Given the description of an element on the screen output the (x, y) to click on. 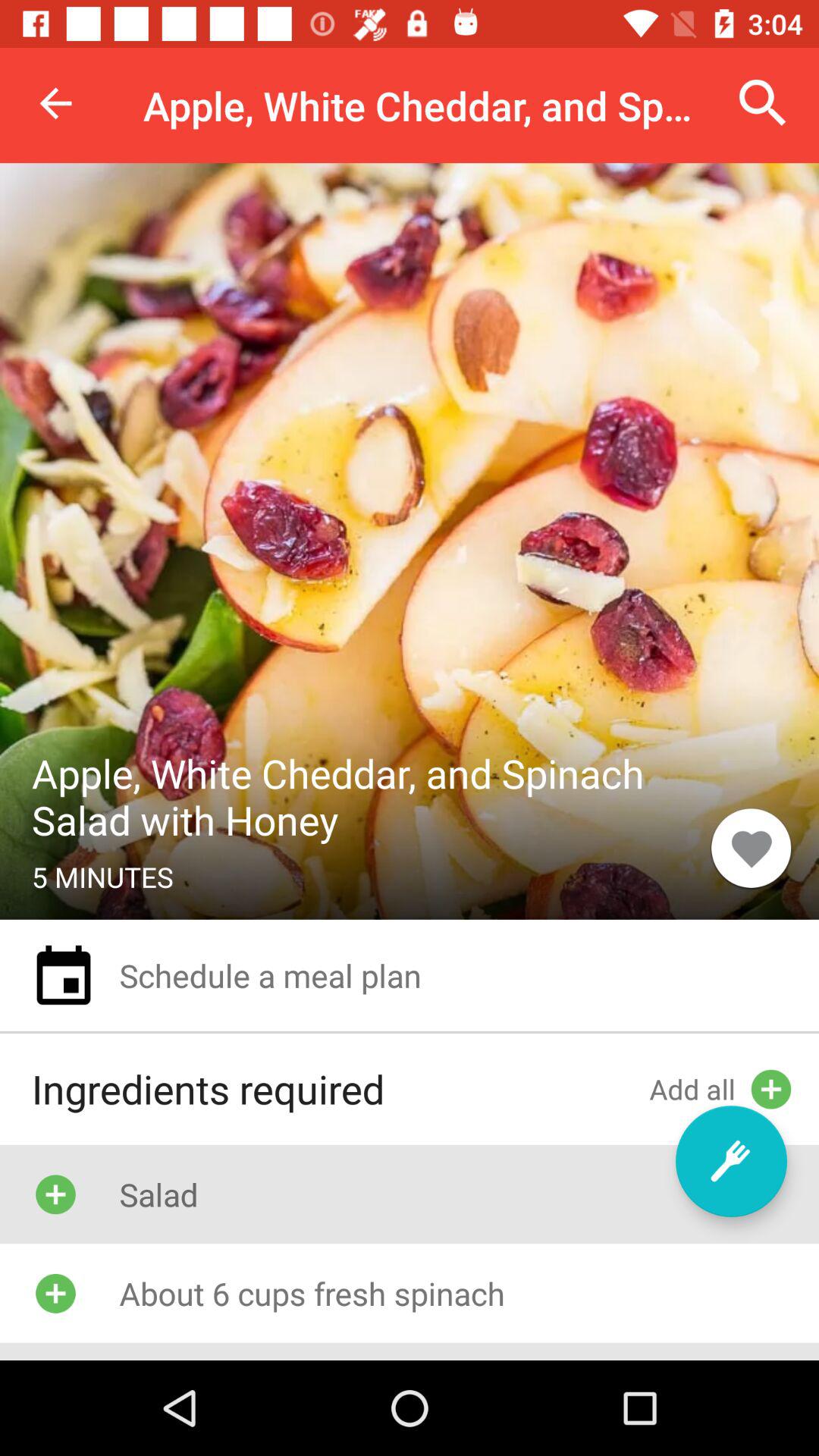
choose the icon above schedule a meal icon (751, 847)
